Given the description of an element on the screen output the (x, y) to click on. 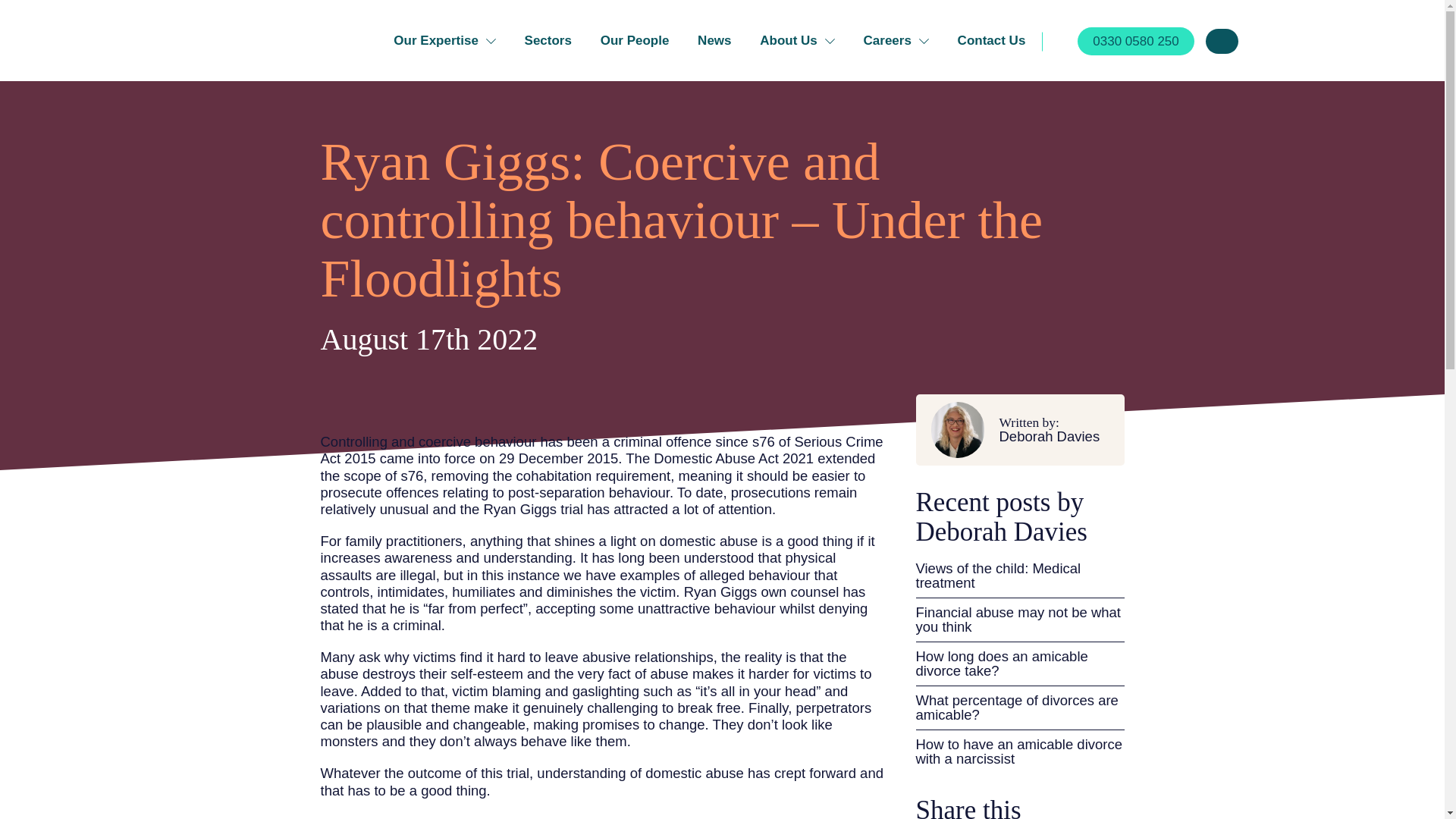
What percentage of divorces are amicable? (1019, 708)
Views of the child: Medical treatment (1019, 576)
0330 0580 250 (1135, 41)
Our People (634, 40)
News (713, 40)
How long does an amicable divorce take? (1019, 664)
Careers (895, 40)
About Us (797, 40)
How to have an amicable divorce with a narcissist (1019, 751)
Sectors (548, 40)
Our Expertise (1053, 429)
Financial abuse may not be what you think (444, 40)
Contact Us (1019, 620)
